Given the description of an element on the screen output the (x, y) to click on. 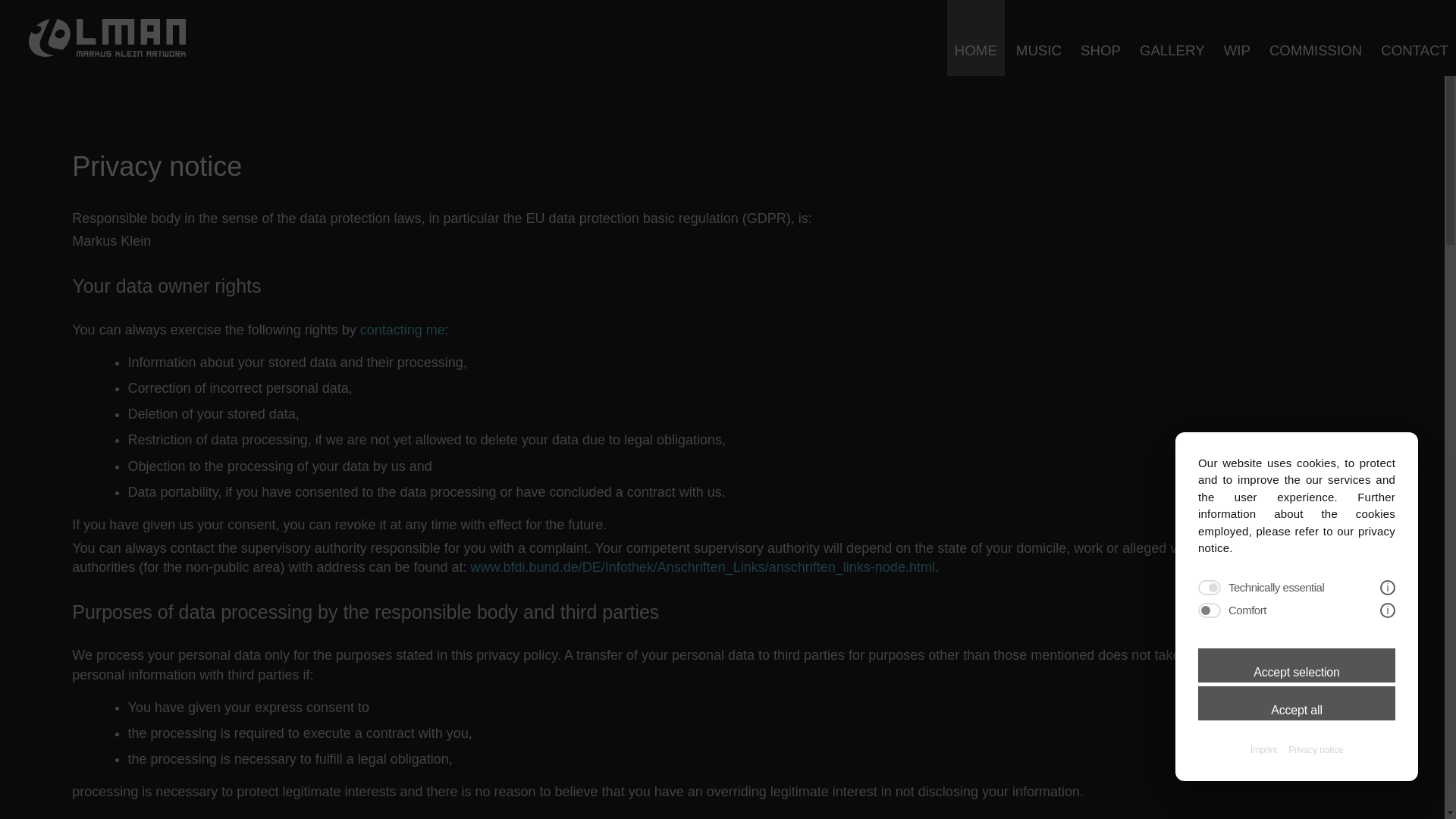
Imprint (1263, 749)
GALLERY (1172, 38)
contacting me (402, 329)
Privacy notice (1315, 749)
on (1209, 587)
Accept selection (1296, 665)
Accept all (1296, 703)
COMMISSION (1316, 38)
Imprint (1263, 749)
Privacy notice (1315, 749)
on (1209, 610)
